Given the description of an element on the screen output the (x, y) to click on. 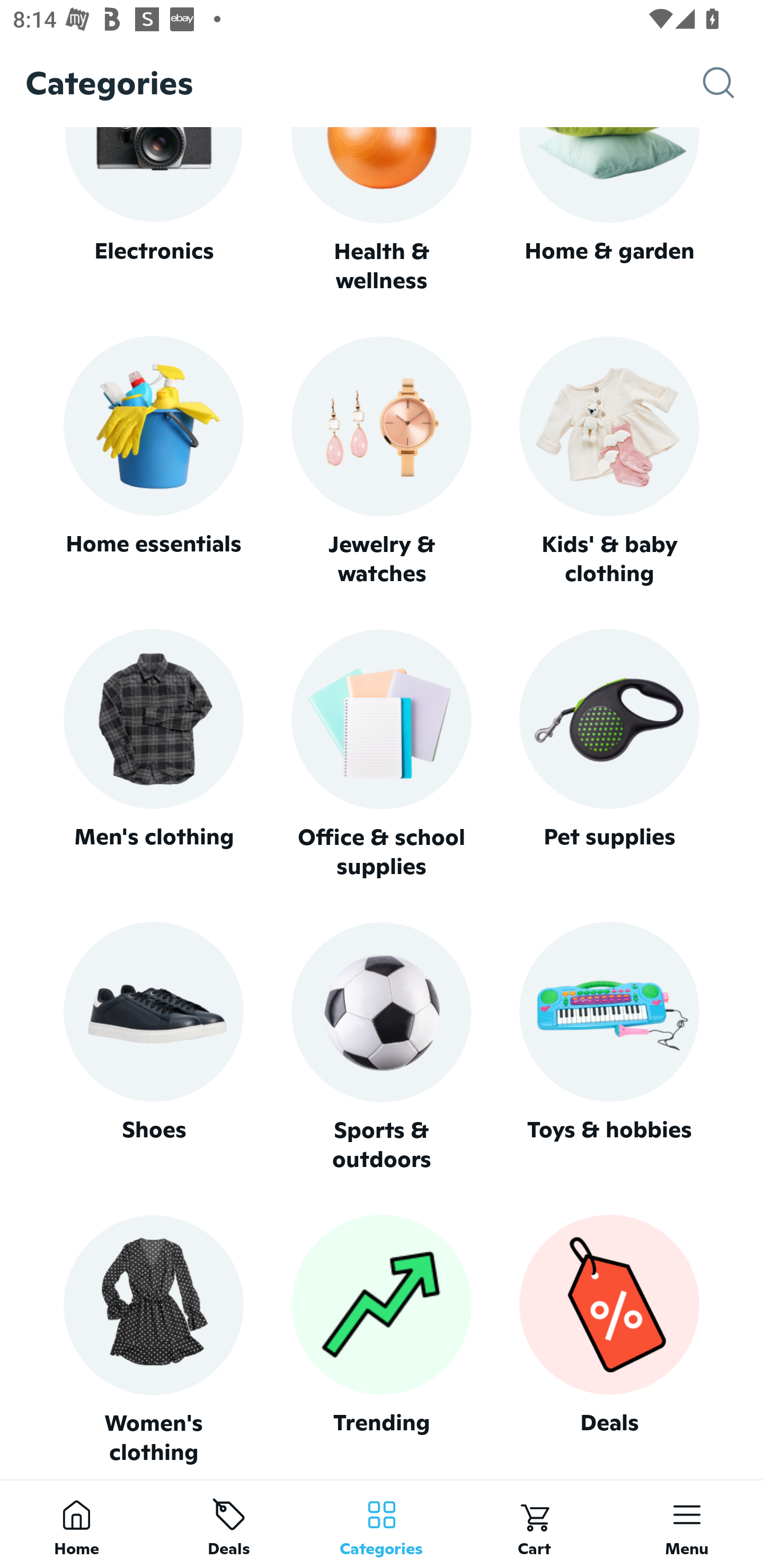
Search (732, 82)
Electronics (153, 210)
Health & wellness (381, 210)
Home & garden (609, 210)
Home essentials (153, 461)
Jewelry & watches (381, 462)
Kids' & baby clothing (609, 462)
Men's clothing (153, 753)
Pet supplies (609, 753)
Office & school supplies (381, 753)
Shoes (153, 1046)
Toys & hobbies (609, 1046)
Sports & outdoors (381, 1046)
Trending (381, 1340)
Deals (609, 1340)
Women's clothing (153, 1340)
Home (76, 1523)
Deals (228, 1523)
Categories (381, 1523)
Cart (533, 1523)
Menu (686, 1523)
